Given the description of an element on the screen output the (x, y) to click on. 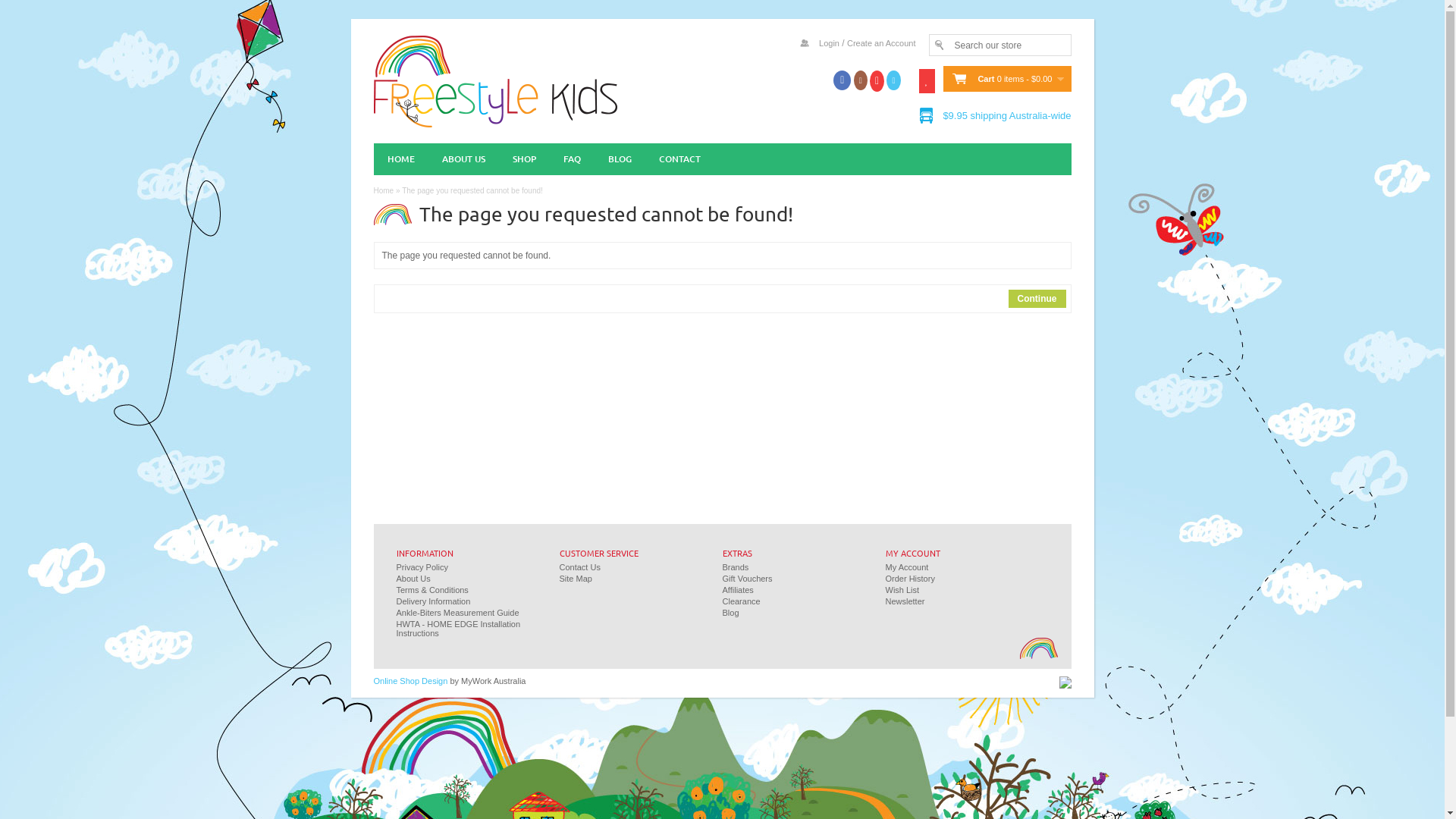
Delivery Information Element type: text (432, 600)
About Us Element type: text (412, 578)
Clearance Element type: text (740, 600)
HOME Element type: text (400, 159)
SHOP Element type: text (523, 159)
Create an Account Element type: text (881, 42)
Affiliates Element type: text (737, 589)
Brands Element type: text (734, 566)
Site Map Element type: text (575, 578)
Continue Element type: text (1037, 298)
Order History Element type: text (910, 578)
0 items - $0.00 Element type: text (1030, 78)
Privacy Policy Element type: text (421, 566)
My Account Element type: text (906, 566)
Contact Us Element type: text (579, 566)
Ankle-Biters Measurement Guide Element type: text (456, 612)
Home Element type: text (383, 190)
ABOUT US Element type: text (462, 159)
CONTACT Element type: text (678, 159)
$9.95 shipping Australia-wide Element type: text (1006, 115)
BLOG Element type: text (619, 159)
The page you requested cannot be found! Element type: text (471, 190)
Newsletter Element type: text (905, 600)
Gift Vouchers Element type: text (746, 578)
Freestyle Kids Element type: hover (494, 79)
Wish List Element type: text (902, 589)
Login Element type: text (829, 42)
HWTA - HOME EDGE Installation Instructions Element type: text (457, 628)
Terms & Conditions Element type: text (431, 589)
FAQ Element type: text (571, 159)
Online Shop Design Element type: text (410, 680)
Blog Element type: text (729, 612)
